Given the description of an element on the screen output the (x, y) to click on. 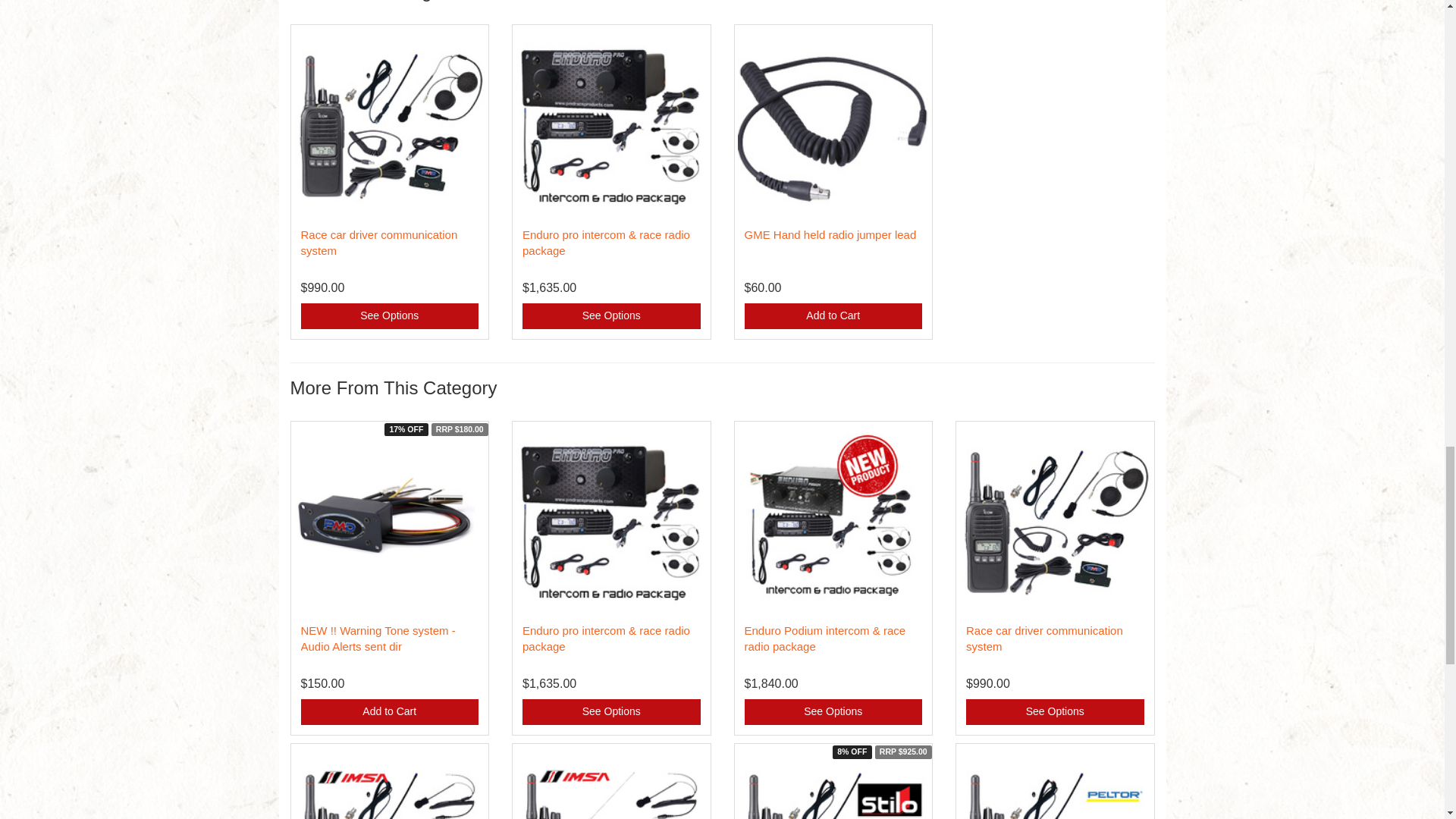
Add to Cart (833, 316)
Race car driver communication system (378, 242)
Buying Options (833, 711)
GME Hand held radio jumper lead (830, 234)
Buying Options (611, 711)
GME Hand held radio jumper lead (830, 234)
See Options (611, 316)
Add to Cart (833, 316)
Buying Options (389, 316)
Race car driver communication system (1044, 638)
Buying Options (611, 316)
NEW !! Warning Tone system - Audio Alerts sent dir (376, 638)
Race car driver communication system (378, 242)
See Options (389, 316)
